Given the description of an element on the screen output the (x, y) to click on. 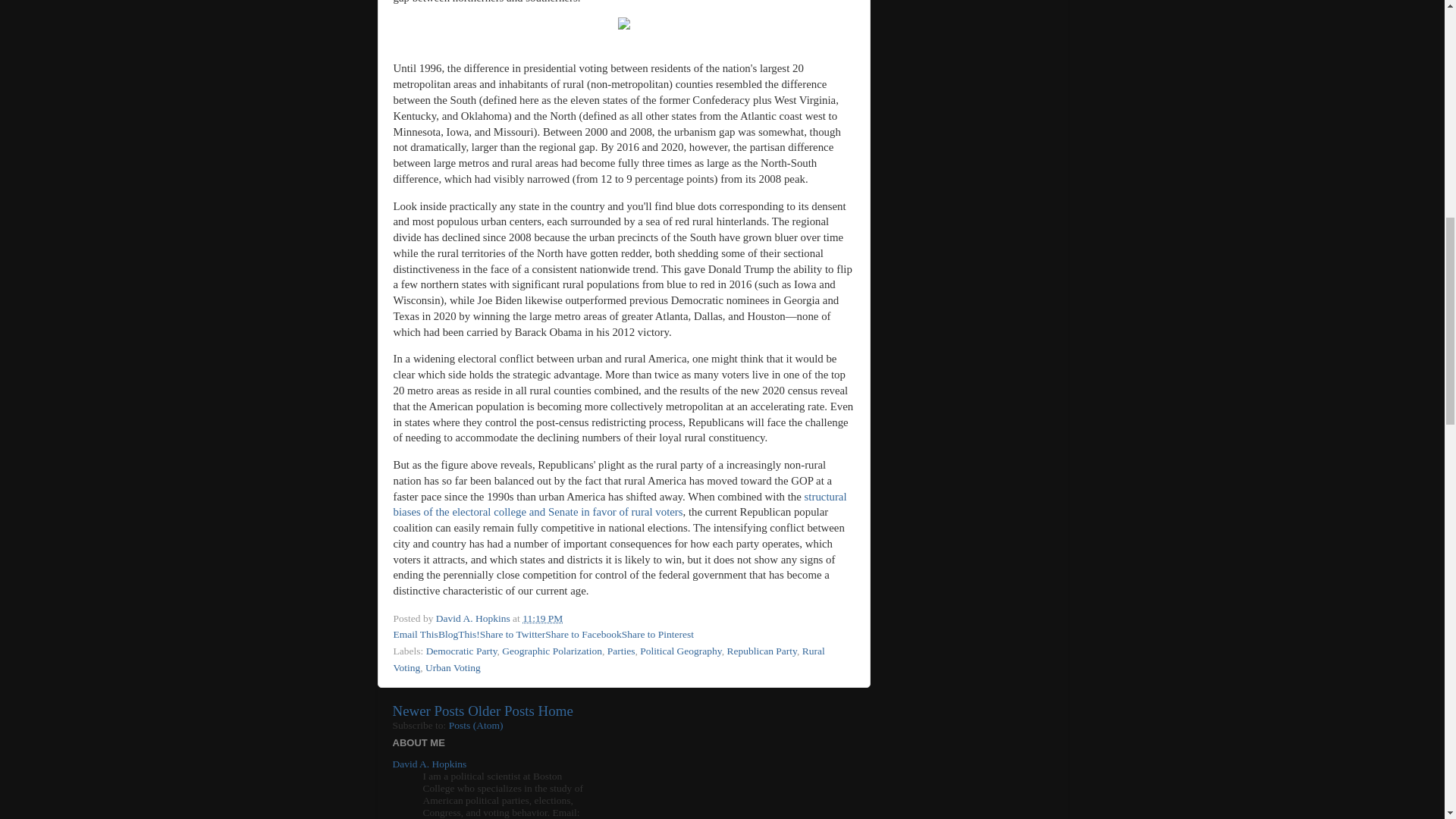
Parties (620, 650)
11:19 PM (542, 618)
Older Posts (500, 710)
Home (555, 710)
Older Posts (500, 710)
Email This (415, 633)
Geographic Polarization (552, 650)
Share to Pinterest (657, 633)
Democratic Party (461, 650)
Share to Twitter (513, 633)
Newer Posts (428, 710)
Newer Posts (428, 710)
David A. Hopkins (473, 618)
Share to Facebook (582, 633)
author profile (473, 618)
